Given the description of an element on the screen output the (x, y) to click on. 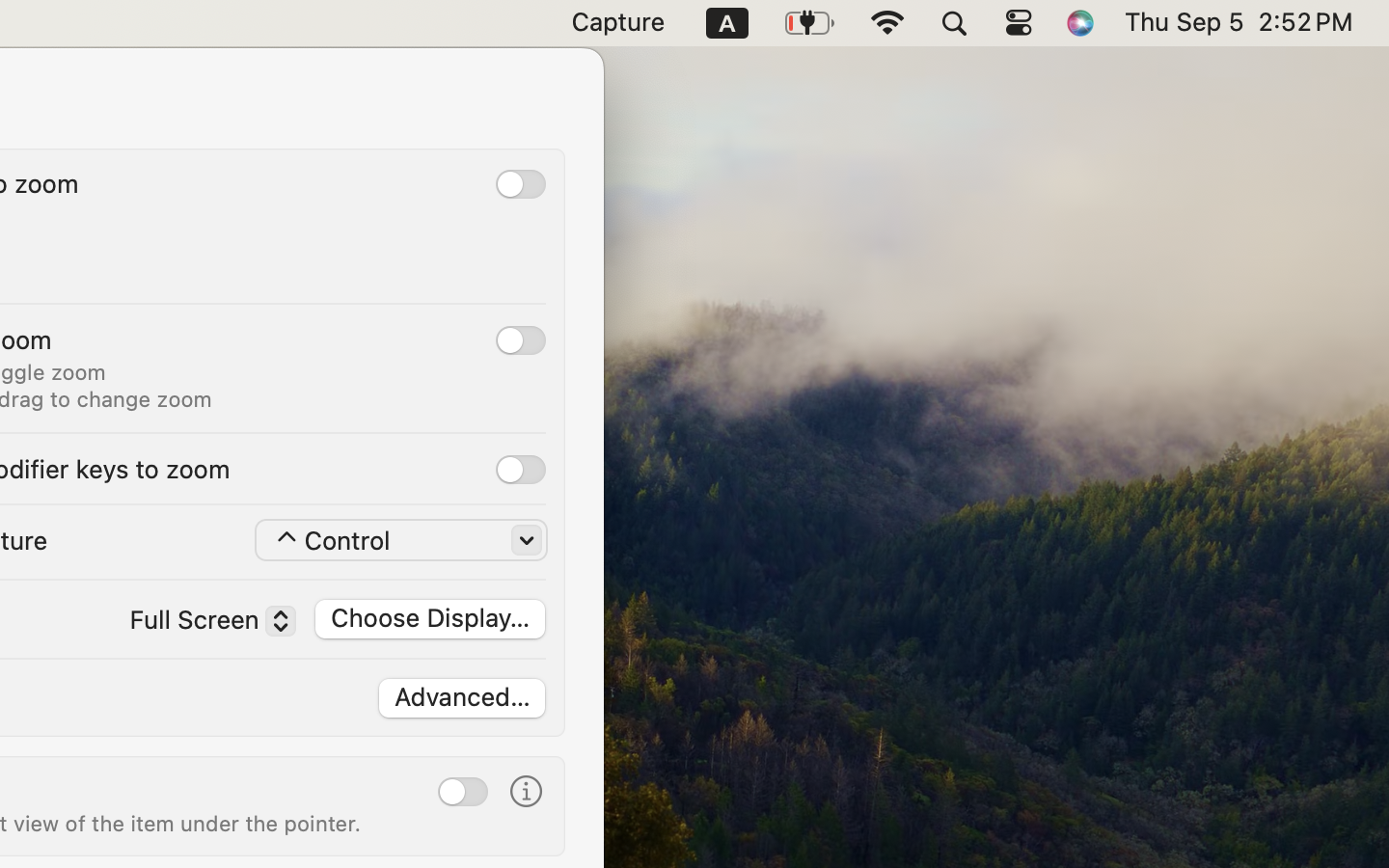
Full Screen Element type: AXPopUpButton (203, 623)
⌃ Control Element type: AXComboBox (402, 540)
